Given the description of an element on the screen output the (x, y) to click on. 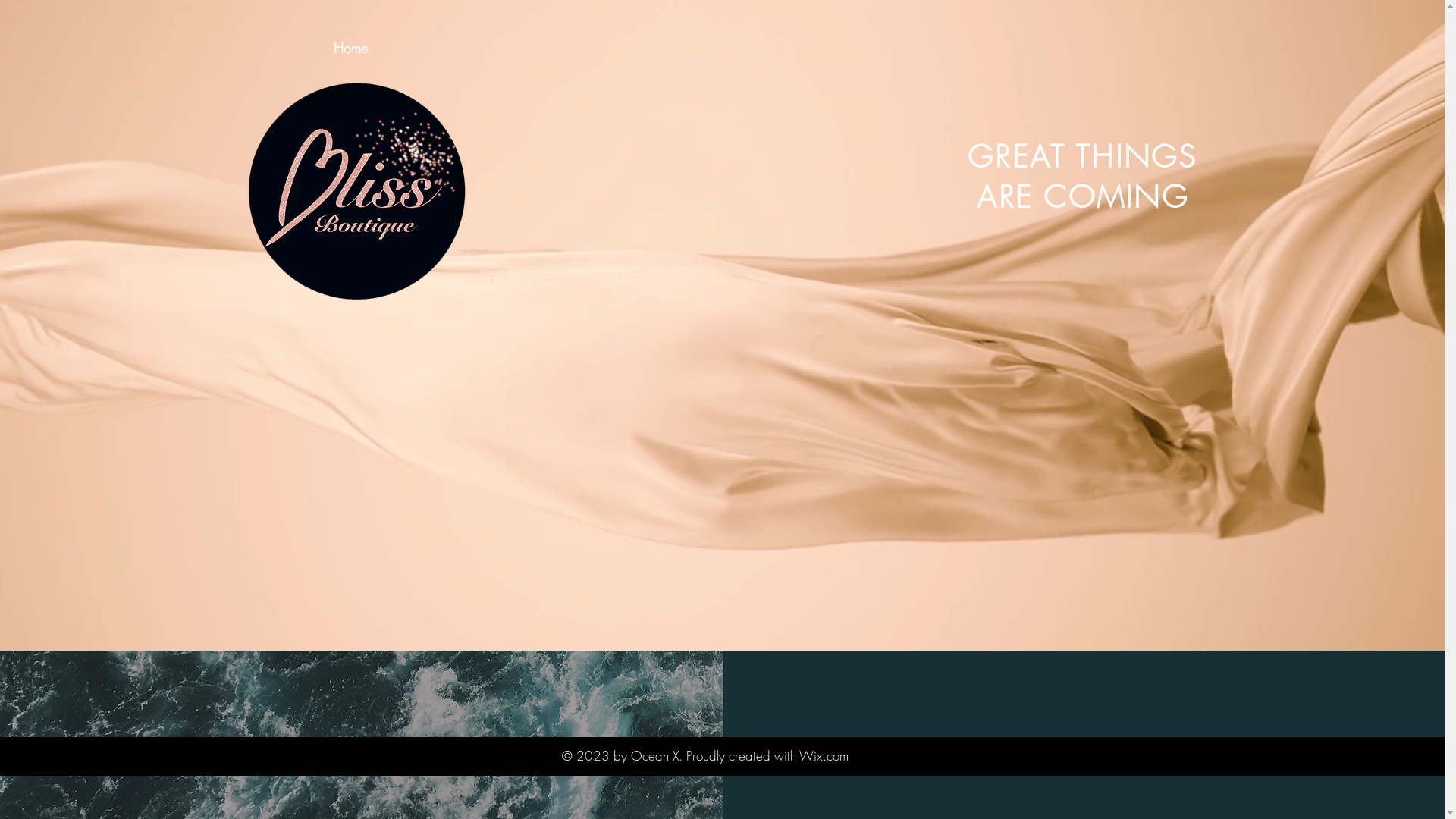
Home Element type: text (350, 47)
Wix.com Element type: text (823, 755)
269308837_340419294560165_3120624871564658497_n.png Element type: hover (352, 193)
